Given the description of an element on the screen output the (x, y) to click on. 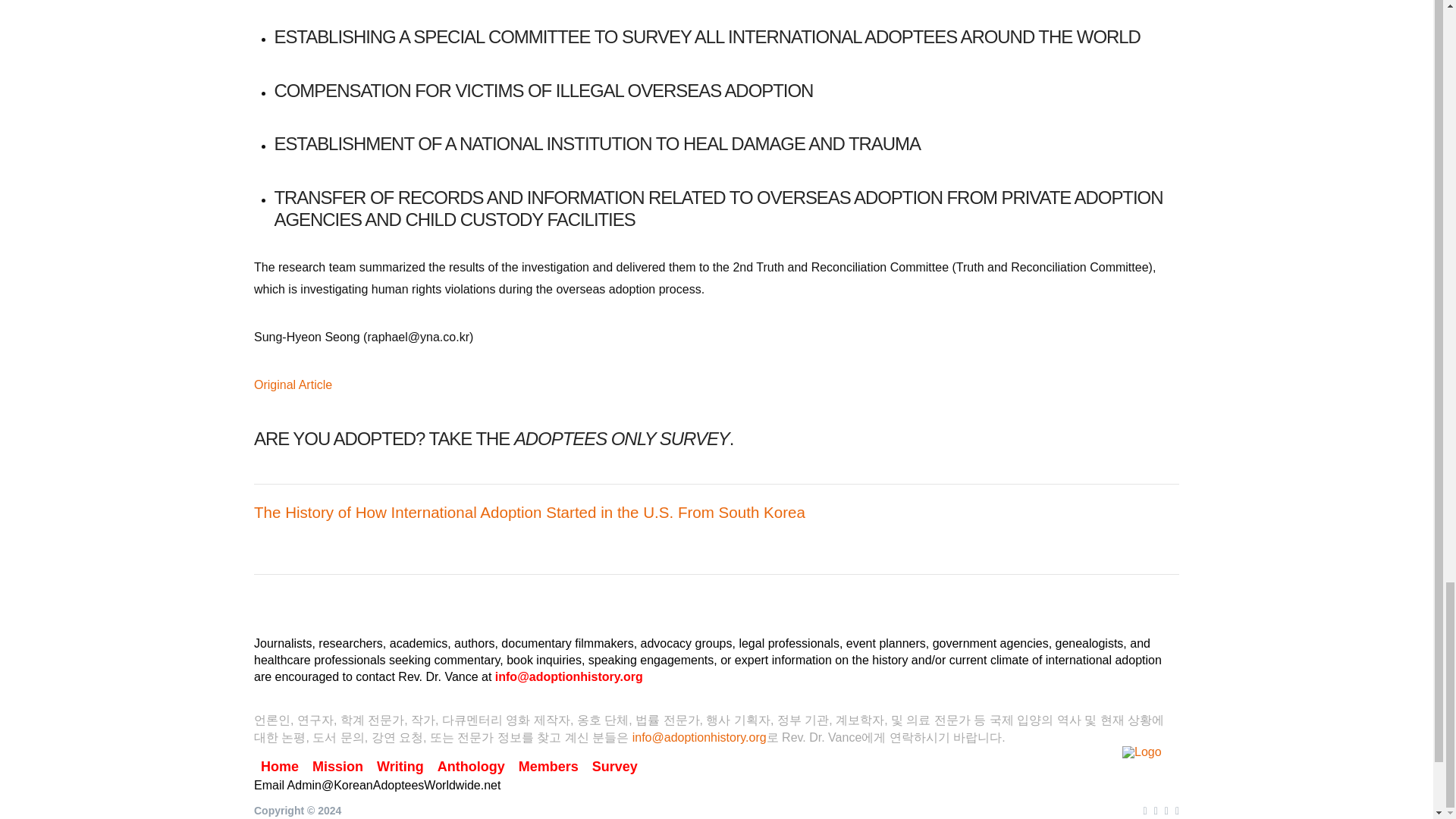
Home (279, 767)
Members (548, 767)
ADOPTEES ONLY SURVEY (621, 438)
Mission (337, 767)
Anthology (471, 767)
Writing (399, 767)
Survey (615, 767)
Original Article (292, 384)
